Given the description of an element on the screen output the (x, y) to click on. 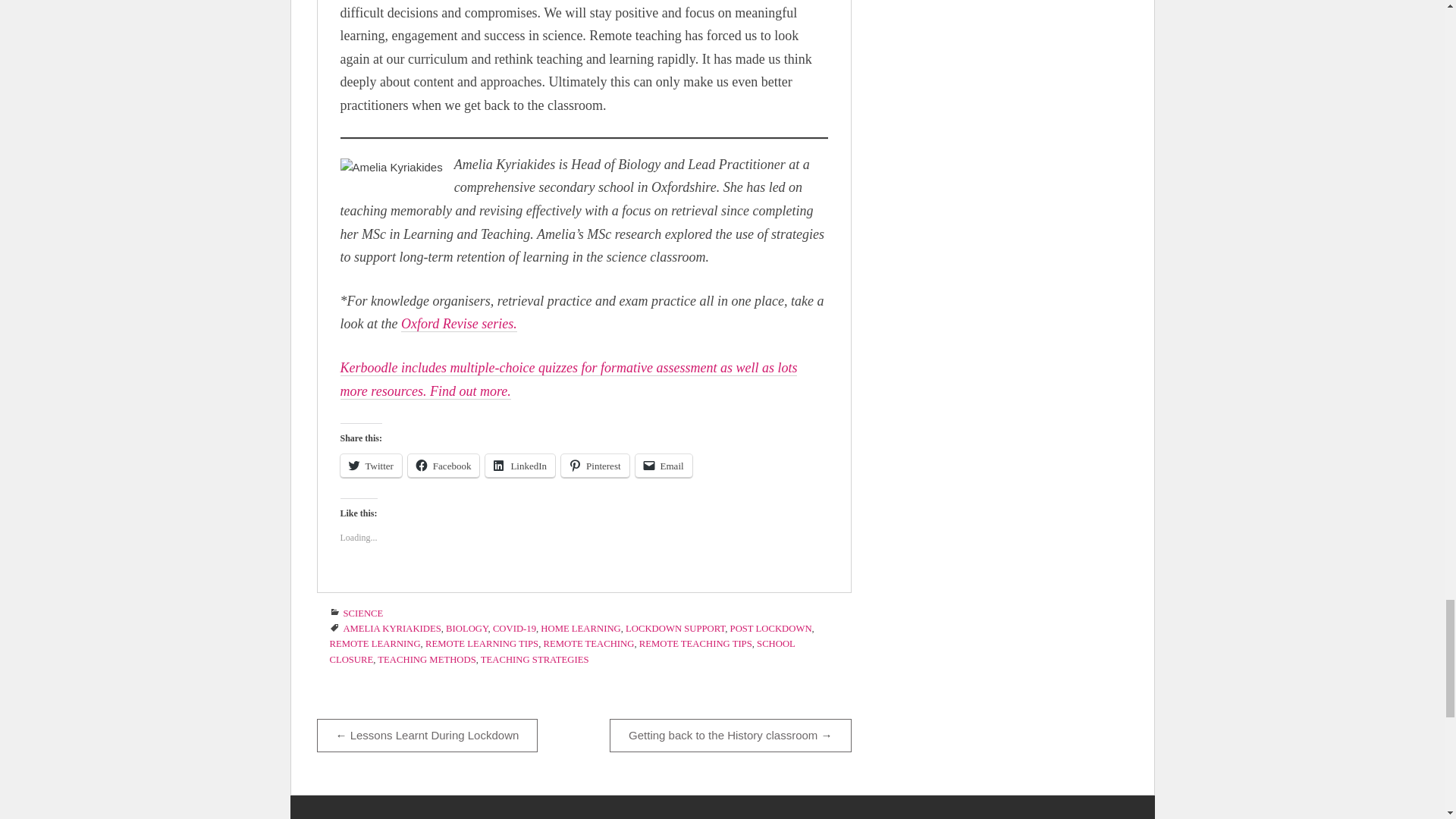
Facebook (443, 465)
Oxford Revise series. (458, 324)
LinkedIn (519, 465)
Click to share on Facebook (443, 465)
Click to share on Twitter (370, 465)
Twitter (370, 465)
SCIENCE (362, 613)
BIOLOGY (466, 628)
Email (663, 465)
Click to share on Pinterest (594, 465)
